Given the description of an element on the screen output the (x, y) to click on. 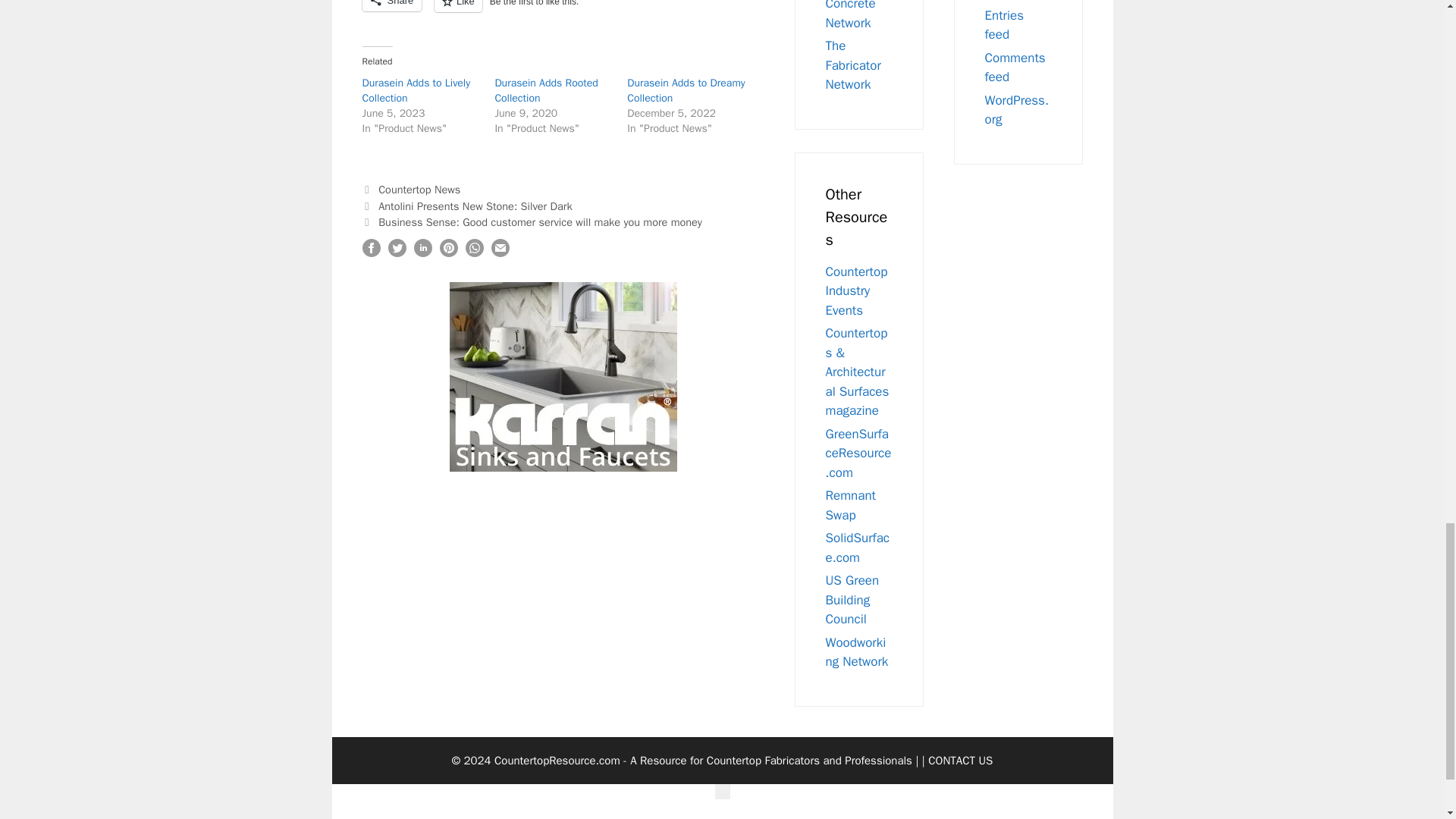
Durasein Adds to Lively Collection (416, 90)
Share this post! (422, 252)
Countertop News (419, 189)
Durasein Adds Rooted Collection (545, 90)
Like or Reblog (547, 15)
Share (392, 5)
Durasein Adds Rooted Collection (545, 90)
Durasein Adds to Lively Collection (416, 90)
Tweet this post! (397, 252)
Durasein Adds to Dreamy Collection (685, 90)
